Given the description of an element on the screen output the (x, y) to click on. 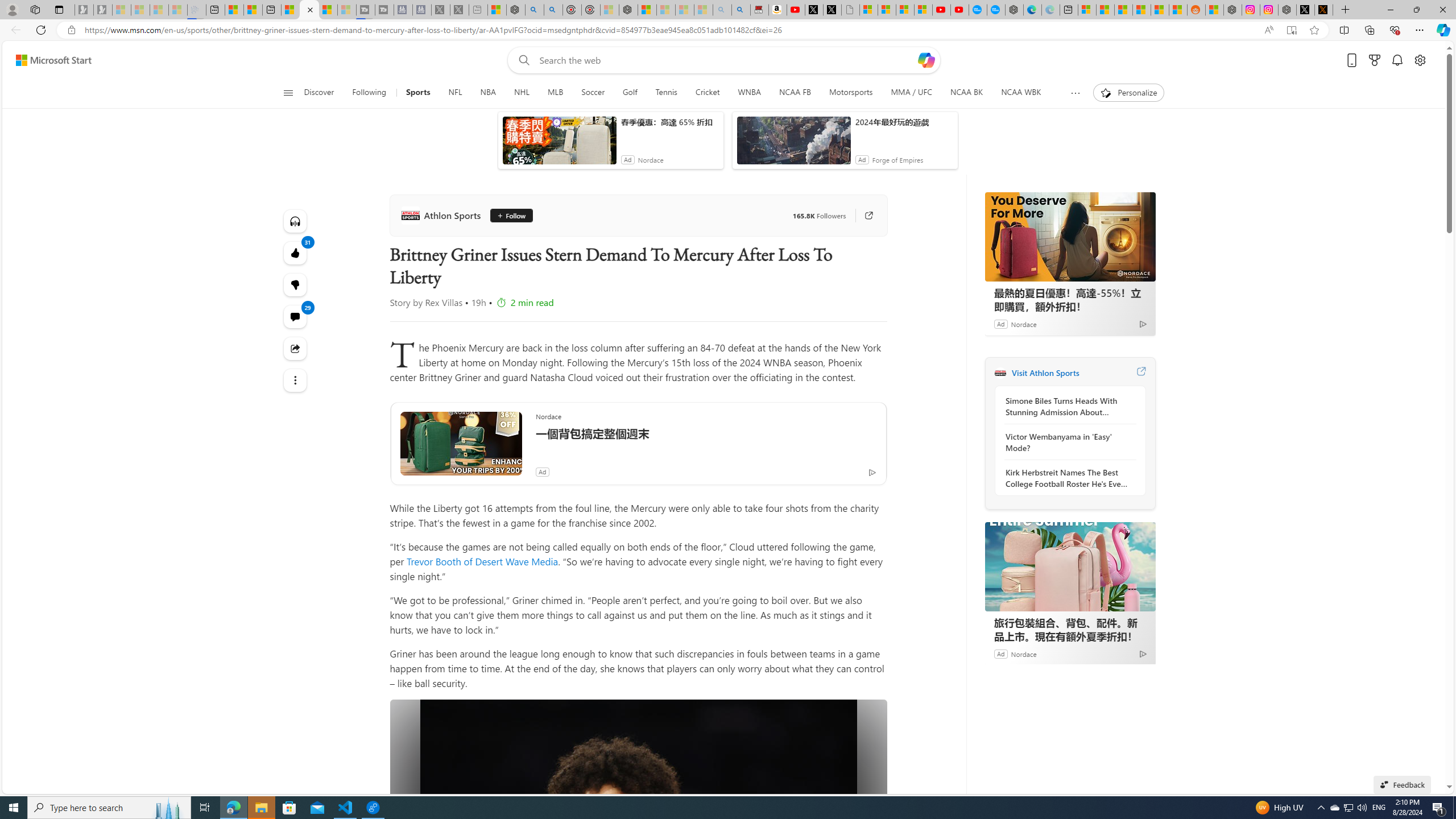
MMA / UFC (910, 92)
New tab (1069, 9)
MLB (555, 92)
Athlon Sports (1000, 372)
Discover (323, 92)
To get missing image descriptions, open the context menu. (1105, 92)
Refresh (40, 29)
Day 1: Arriving in Yemen (surreal to be here) - YouTube (795, 9)
Shanghai, China hourly forecast | Microsoft Weather (1123, 9)
New tab - Sleeping (478, 9)
Microsoft Start (53, 60)
Enter your search term (726, 59)
